Given the description of an element on the screen output the (x, y) to click on. 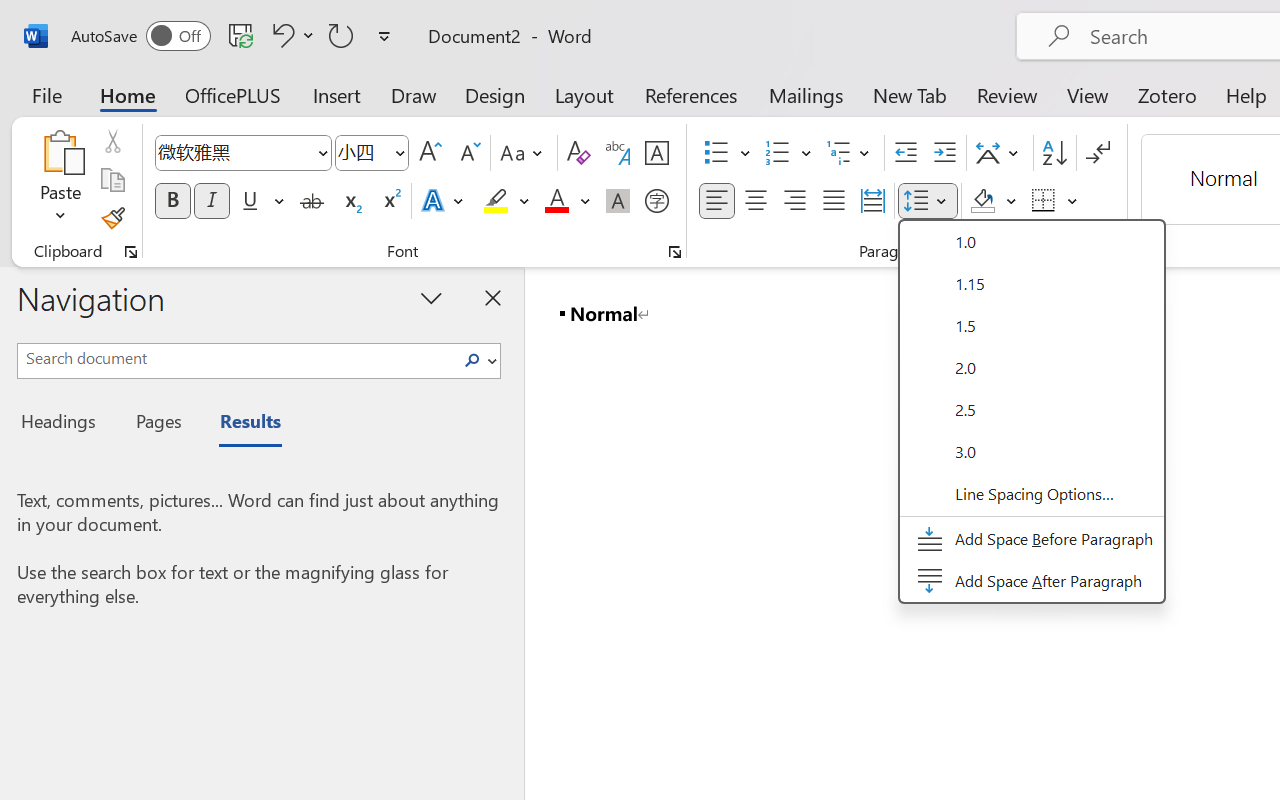
Search (478, 360)
Phonetic Guide... (618, 153)
Shading (993, 201)
Zotero (1166, 94)
AutoSave (140, 35)
Decrease Indent (906, 153)
View (1087, 94)
Results (240, 424)
Character Border (656, 153)
Align Right (794, 201)
Search document (236, 358)
Design (495, 94)
Undo Style (280, 35)
&Line and Paragraph Spacing (1032, 411)
